Given the description of an element on the screen output the (x, y) to click on. 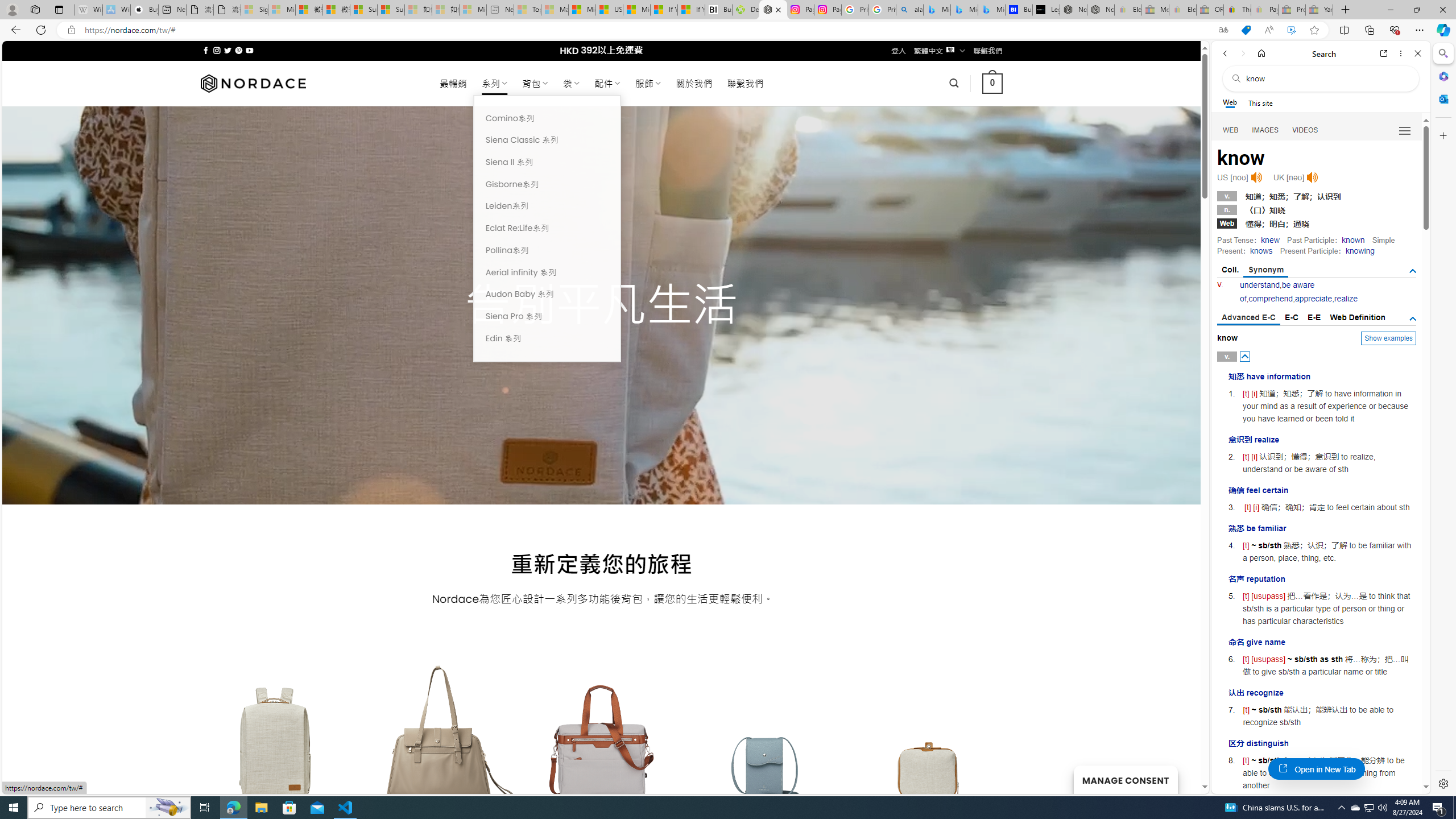
Microsoft account | Account Checkup - Sleeping (473, 9)
knows (1260, 250)
Microsoft Services Agreement - Sleeping (281, 9)
Press Room - eBay Inc. - Sleeping (1292, 9)
Preferences (1403, 129)
